Given the description of an element on the screen output the (x, y) to click on. 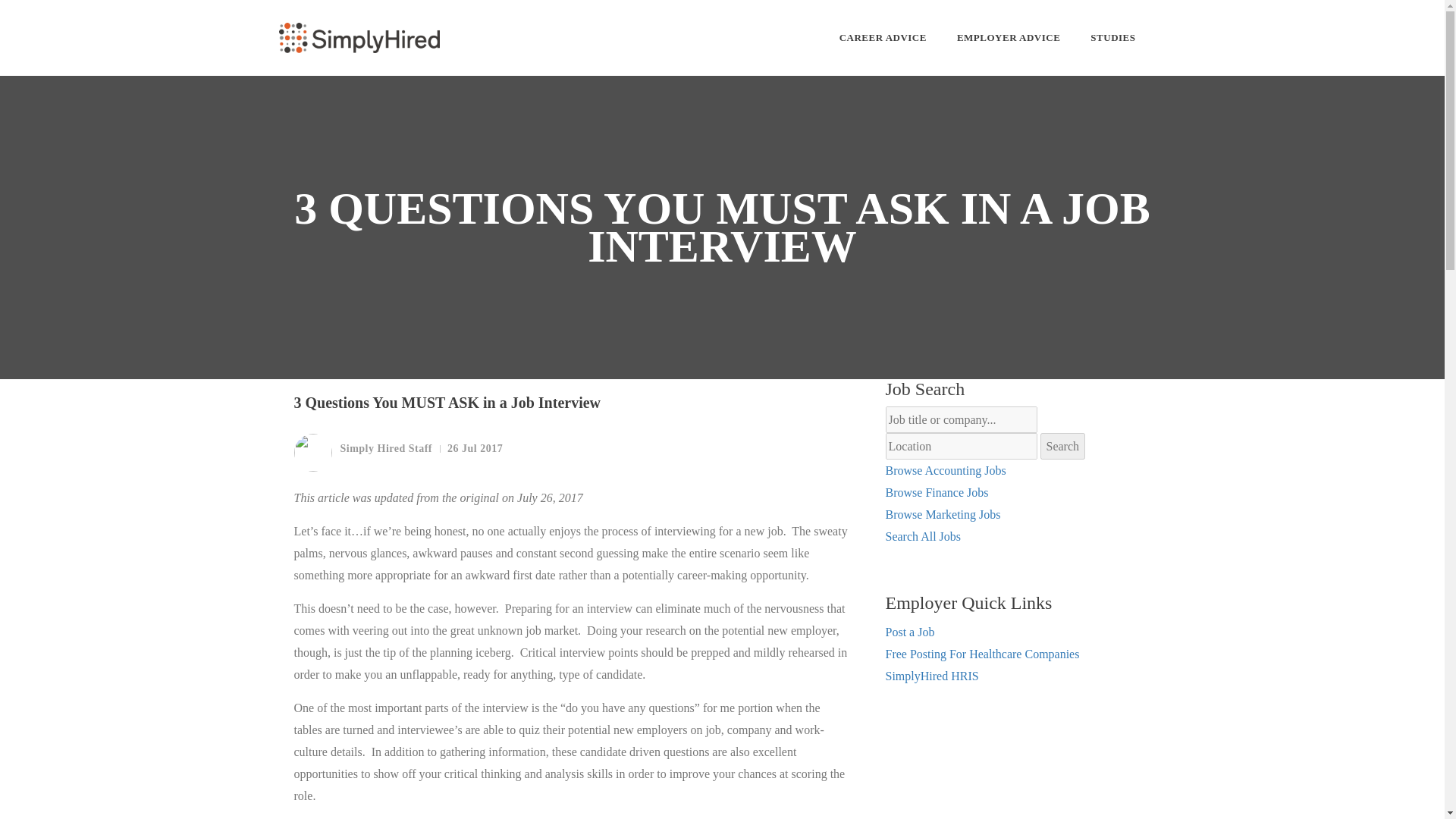
Browse Accounting Jobs (945, 470)
CAREER ADVICE (883, 38)
EMPLOYER ADVICE (1007, 38)
Browse Finance Jobs (936, 492)
Simply Hired Staff (363, 452)
Search All Jobs (922, 535)
Search (1063, 446)
SimplyHired HRIS (931, 675)
Search (1063, 446)
Free Posting For Healthcare Companies (982, 653)
